Given the description of an element on the screen output the (x, y) to click on. 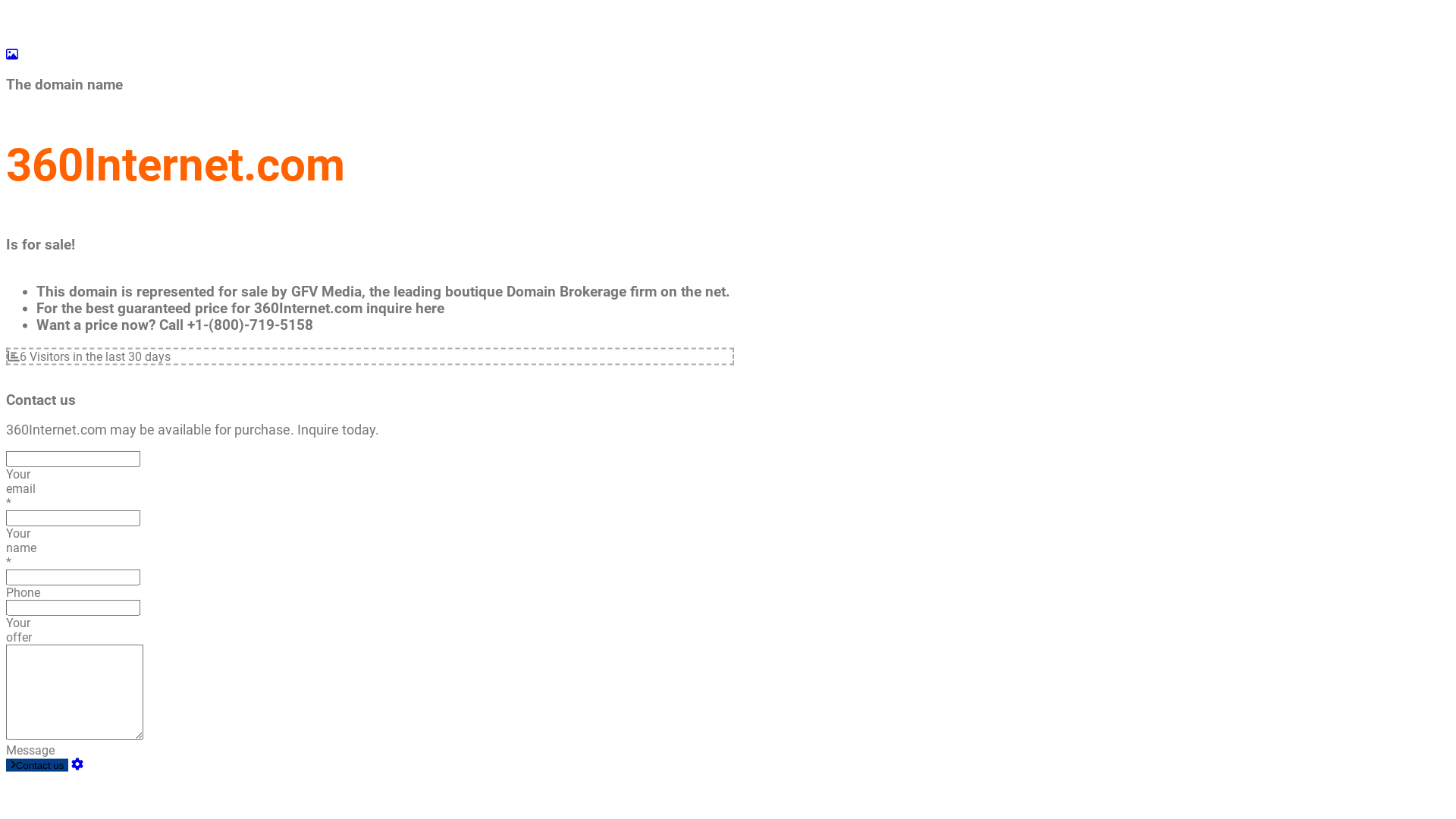
Contact us Element type: text (37, 764)
